Given the description of an element on the screen output the (x, y) to click on. 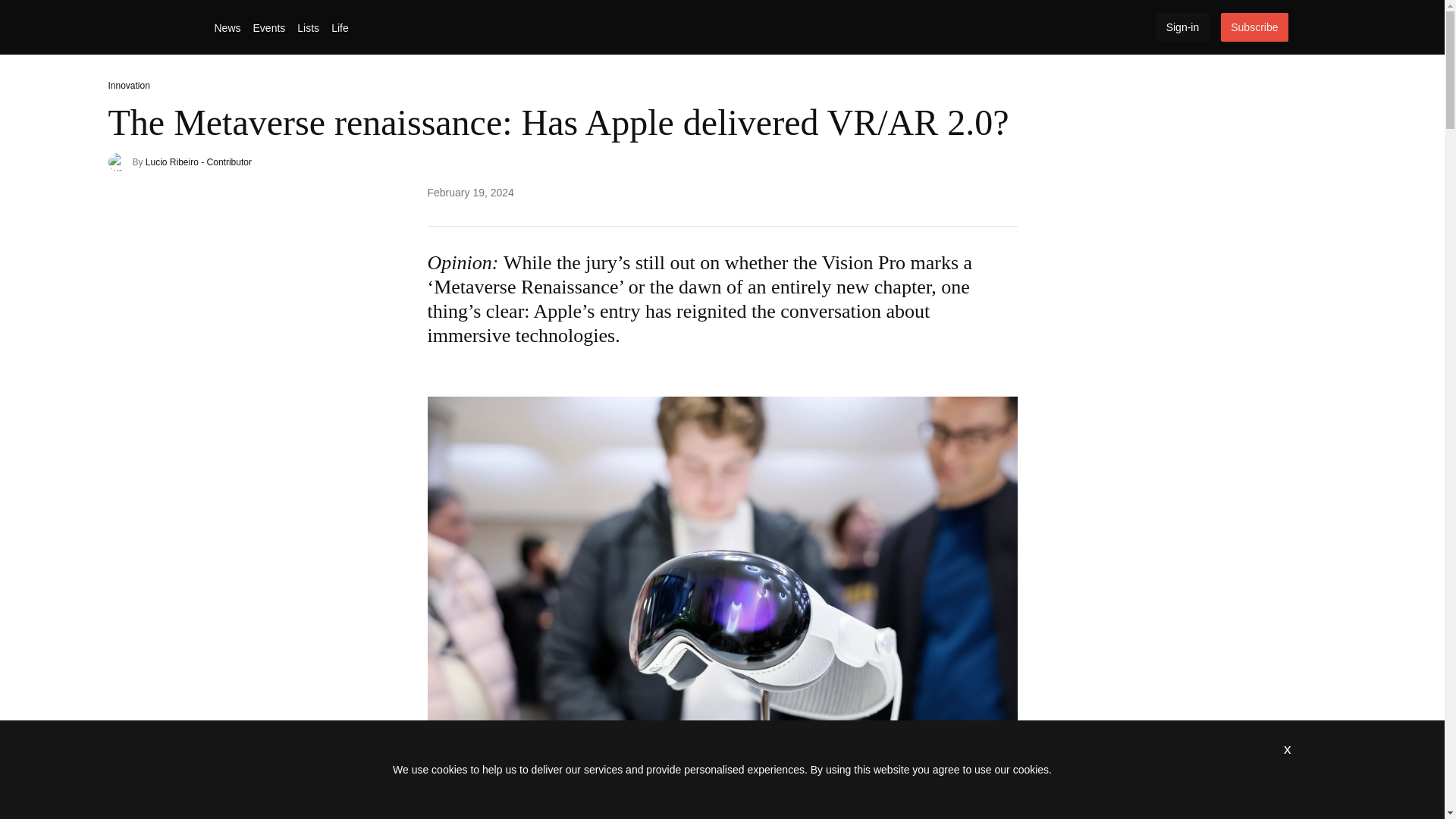
Lists (307, 28)
Open search (1305, 27)
Lucio Ribeiro - Contributor (198, 162)
x (1287, 748)
Sign-in (1182, 27)
Life (340, 28)
x (1287, 748)
Events (269, 28)
News (227, 28)
Subscribe (1254, 27)
